Given the description of an element on the screen output the (x, y) to click on. 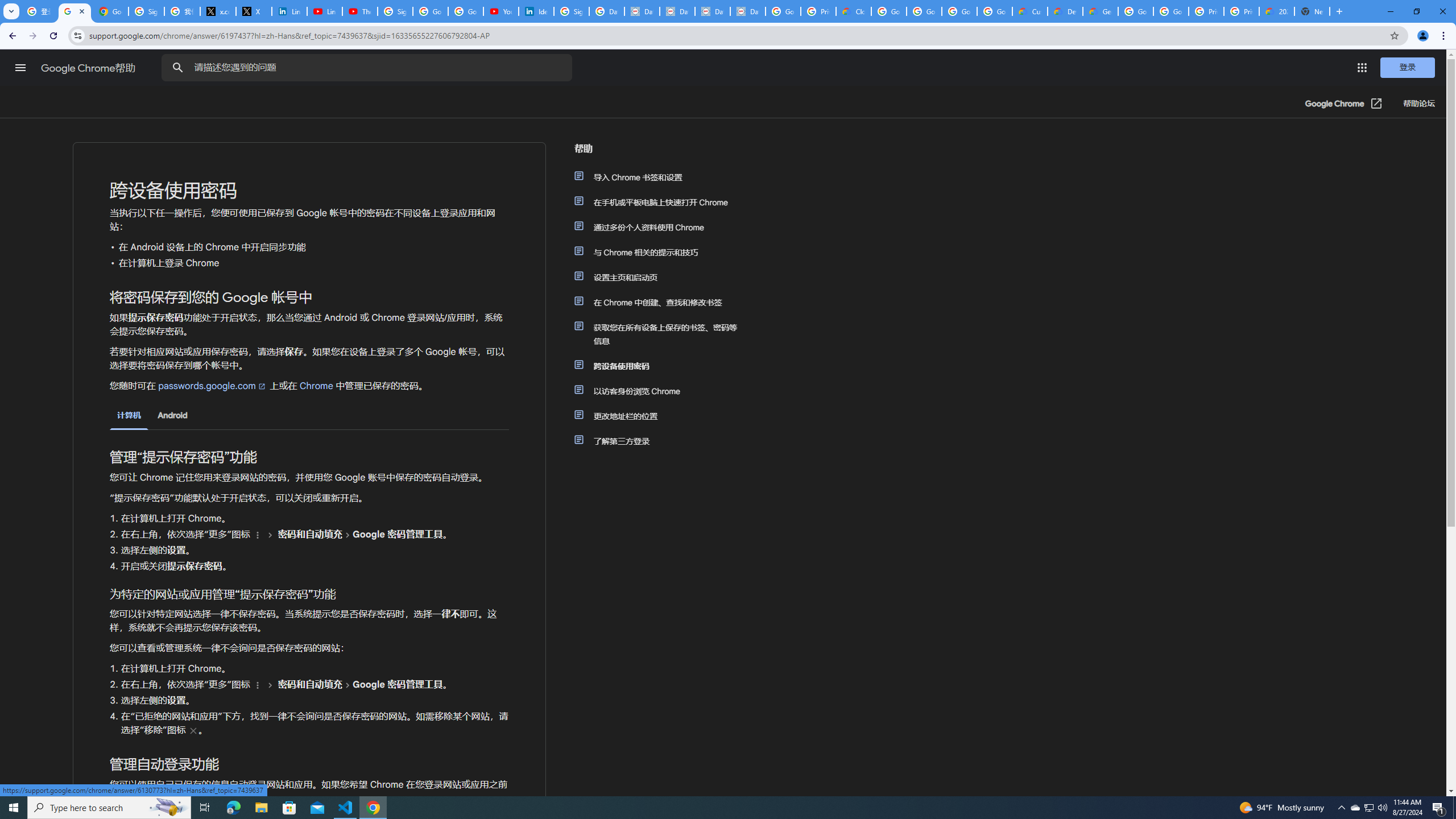
Sign in - Google Accounts (394, 11)
passwords.google.com (212, 385)
New Tab (1312, 11)
Cloud Data Processing Addendum | Google Cloud (853, 11)
Sign in - Google Accounts (145, 11)
Gemini for Business and Developers | Google Cloud (1099, 11)
